Given the description of an element on the screen output the (x, y) to click on. 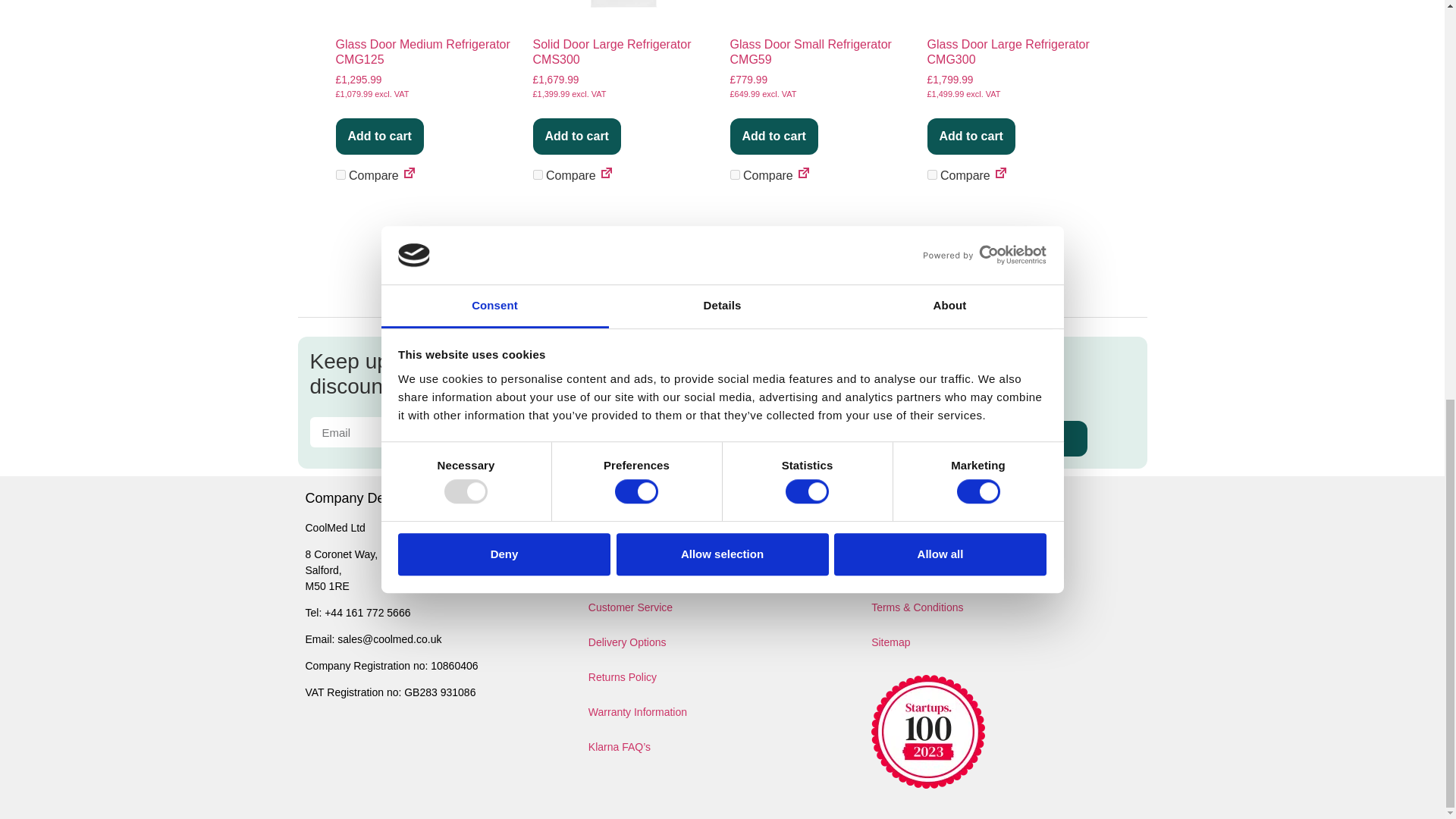
on (536, 174)
on (931, 174)
on (339, 174)
on (734, 174)
